Given the description of an element on the screen output the (x, y) to click on. 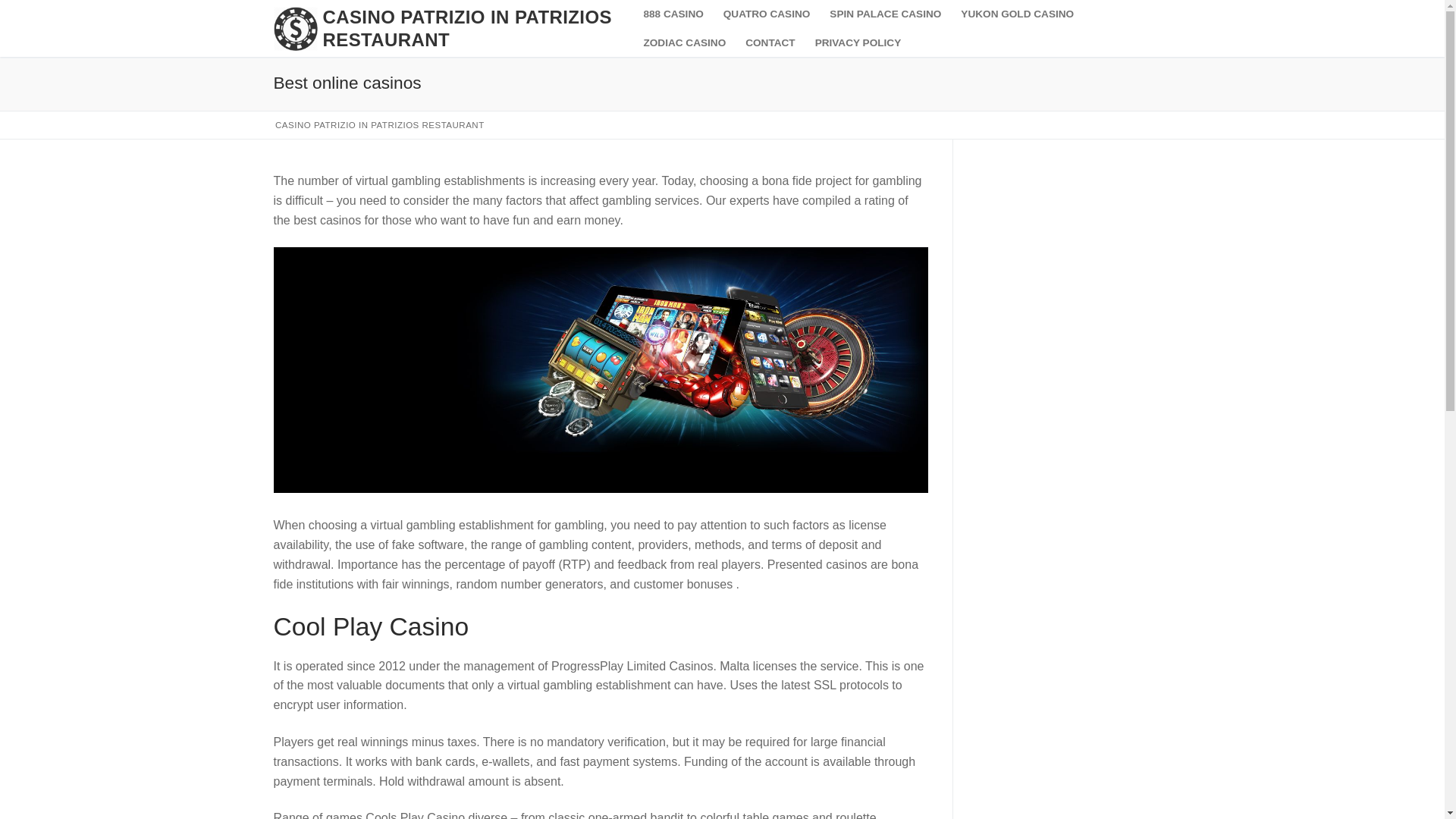
CASINO PATRIZIO IN PATRIZIOS RESTAURANT Element type: text (472, 28)
YUKON GOLD CASINO Element type: text (1016, 14)
PRIVACY POLICY Element type: text (858, 42)
888 CASINO Element type: text (672, 14)
SPIN PALACE CASINO Element type: text (884, 14)
CONTACT Element type: text (769, 42)
QUATRO CASINO Element type: text (766, 14)
ZODIAC CASINO Element type: text (684, 42)
